Given the description of an element on the screen output the (x, y) to click on. 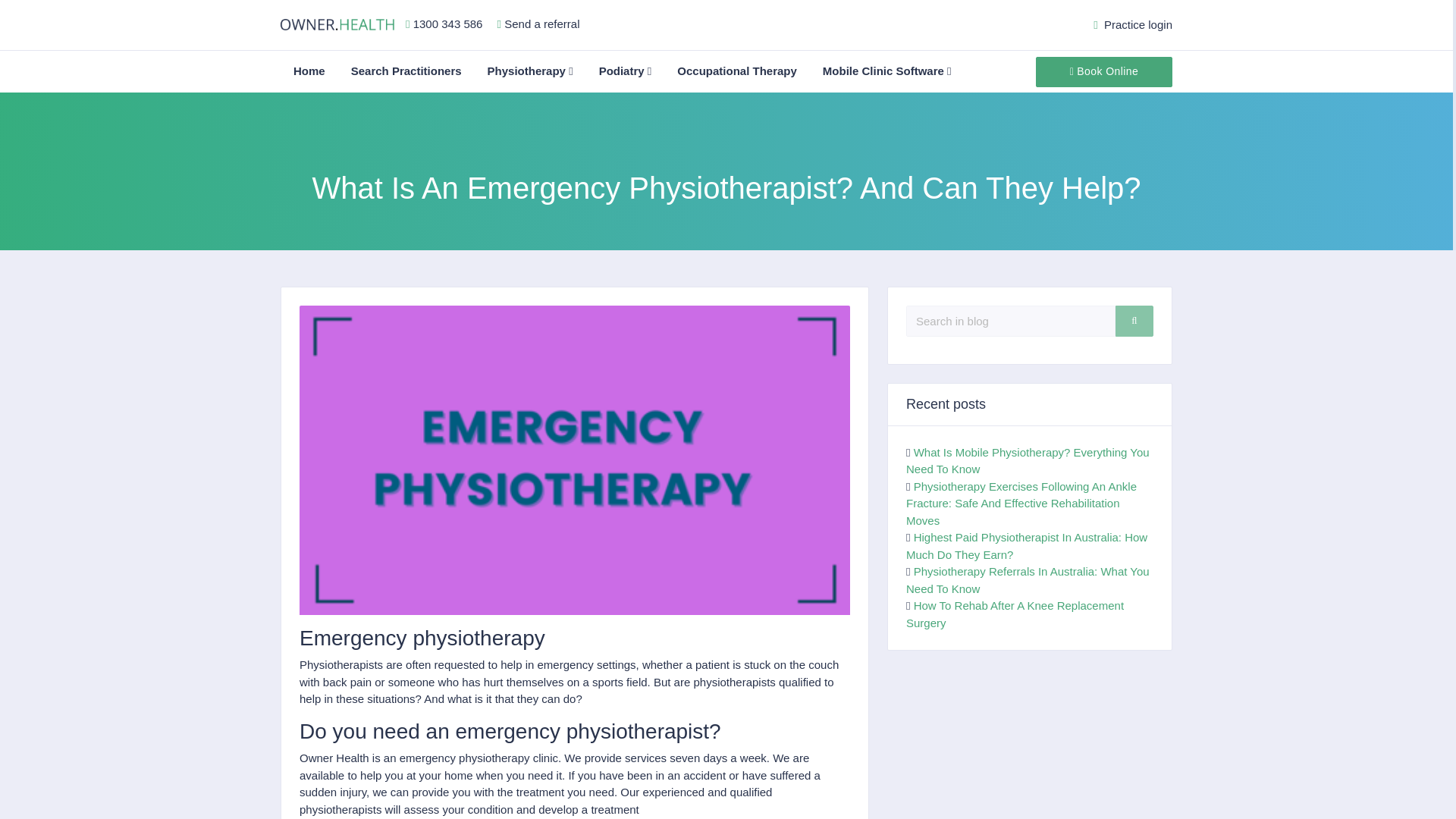
Podiatry (625, 71)
Occupational Therapy (736, 71)
Send a referral (541, 23)
Practice login (1132, 24)
What Is Mobile Physiotherapy? Everything You Need To Know (1027, 460)
Physiotherapy Referrals In Australia: What You Need To Know (1027, 580)
Physiotherapy (530, 71)
Mobile Clinic Software (886, 71)
Book Online (1103, 71)
